Given the description of an element on the screen output the (x, y) to click on. 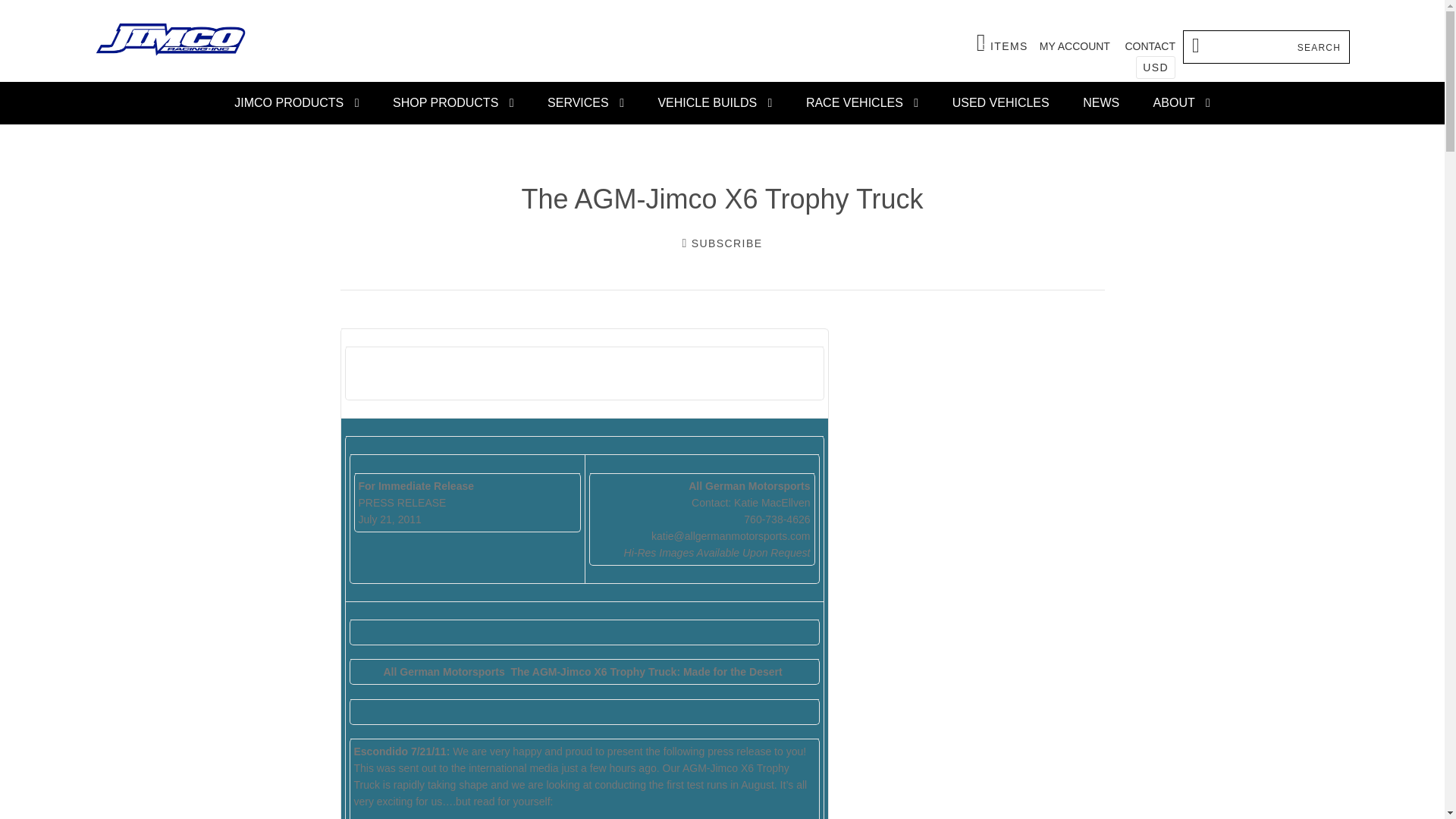
CONTACT (1149, 46)
JIMCO PRODUCTS (296, 102)
SHOP PRODUCTS (1001, 42)
MY ACCOUNT (453, 102)
